Given the description of an element on the screen output the (x, y) to click on. 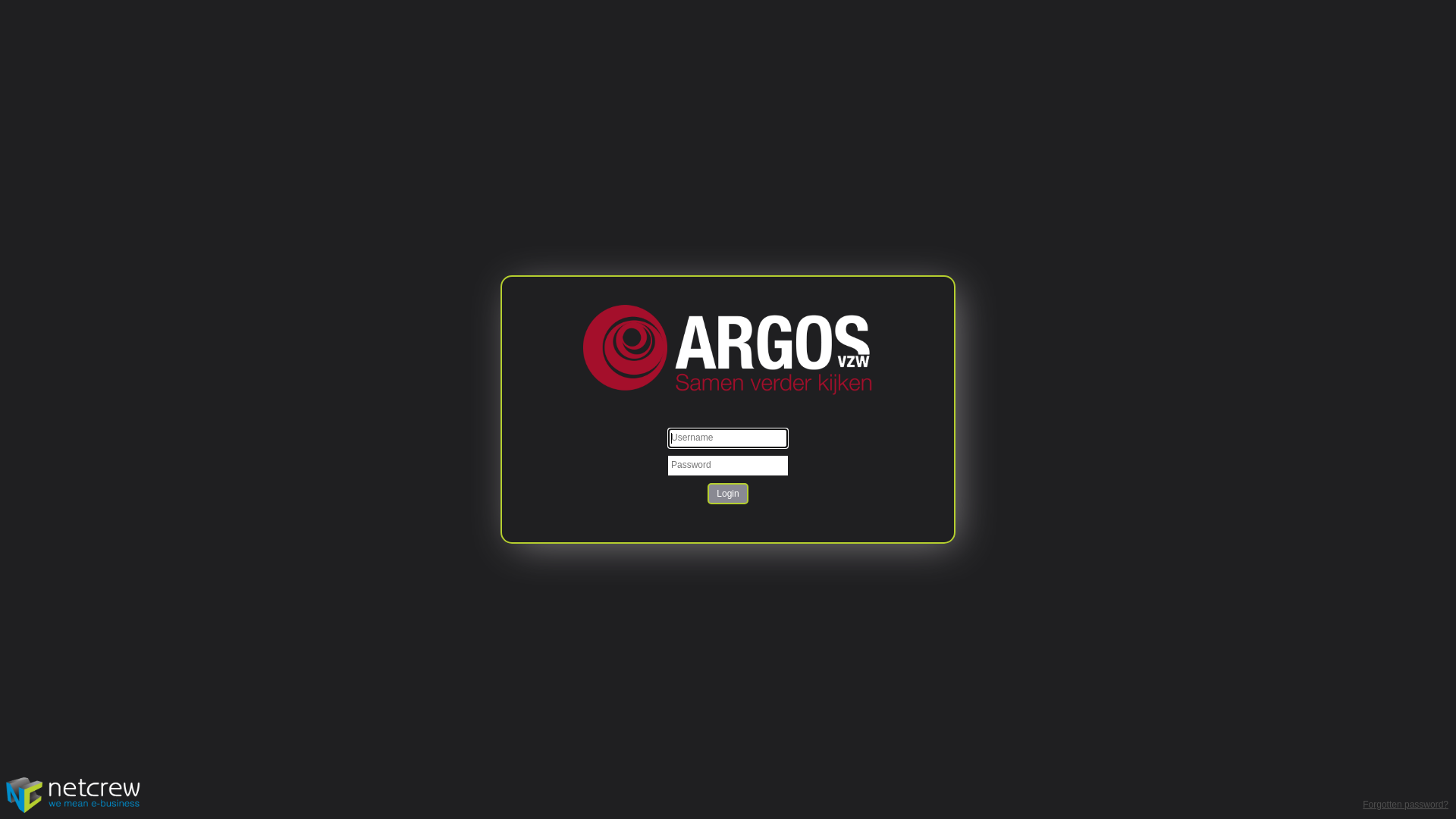
Forgotten password? Element type: text (1405, 804)
Login Element type: text (727, 493)
